Given the description of an element on the screen output the (x, y) to click on. 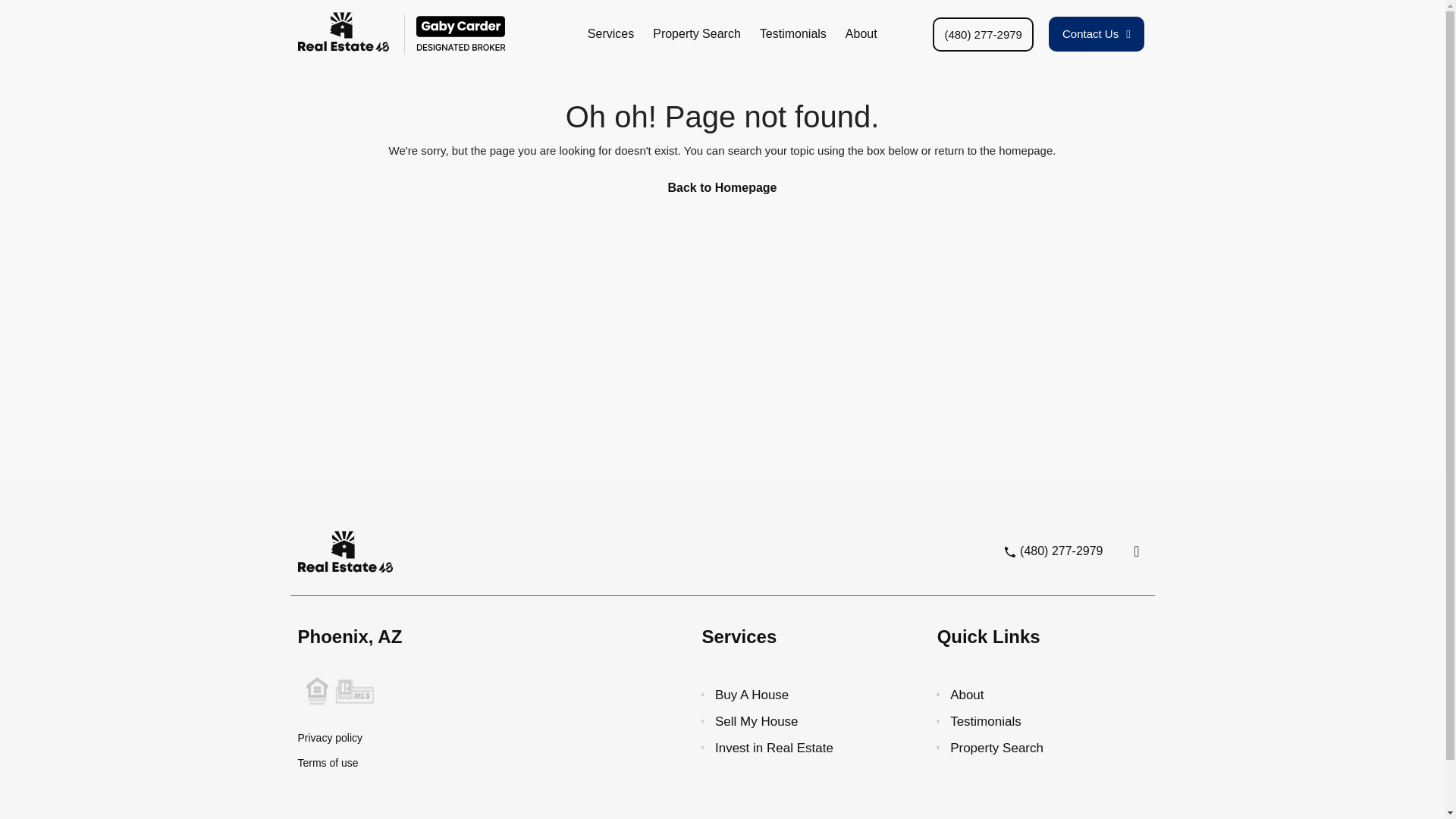
Terms of use (472, 763)
Privacy policy (472, 737)
Sell My House (792, 720)
About (1020, 694)
Contact Us (1096, 33)
Back to Homepage (722, 187)
Testimonials (1020, 720)
Services (610, 33)
About (861, 33)
Property Search (1020, 747)
